Given the description of an element on the screen output the (x, y) to click on. 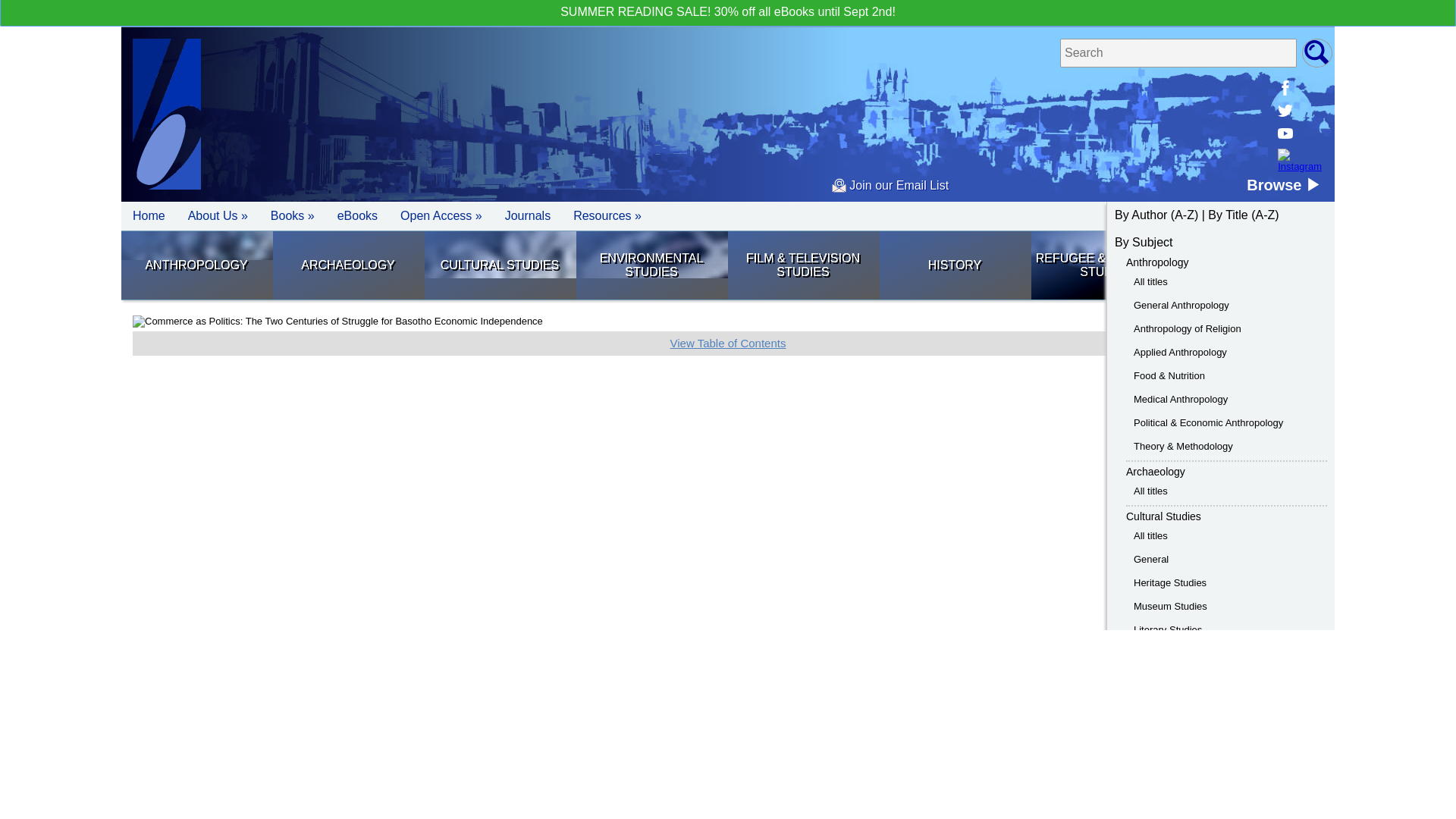
Anthropology of Religion (1187, 328)
Museum Studies (1170, 605)
go (1316, 52)
Berghahn Books on Youtube (1299, 133)
All titles (1150, 490)
Archaeology (1155, 471)
Sociology (1258, 264)
Heritage Studies (1170, 582)
Medical Anthropology (1180, 398)
Cultural Studies (1163, 516)
